Given the description of an element on the screen output the (x, y) to click on. 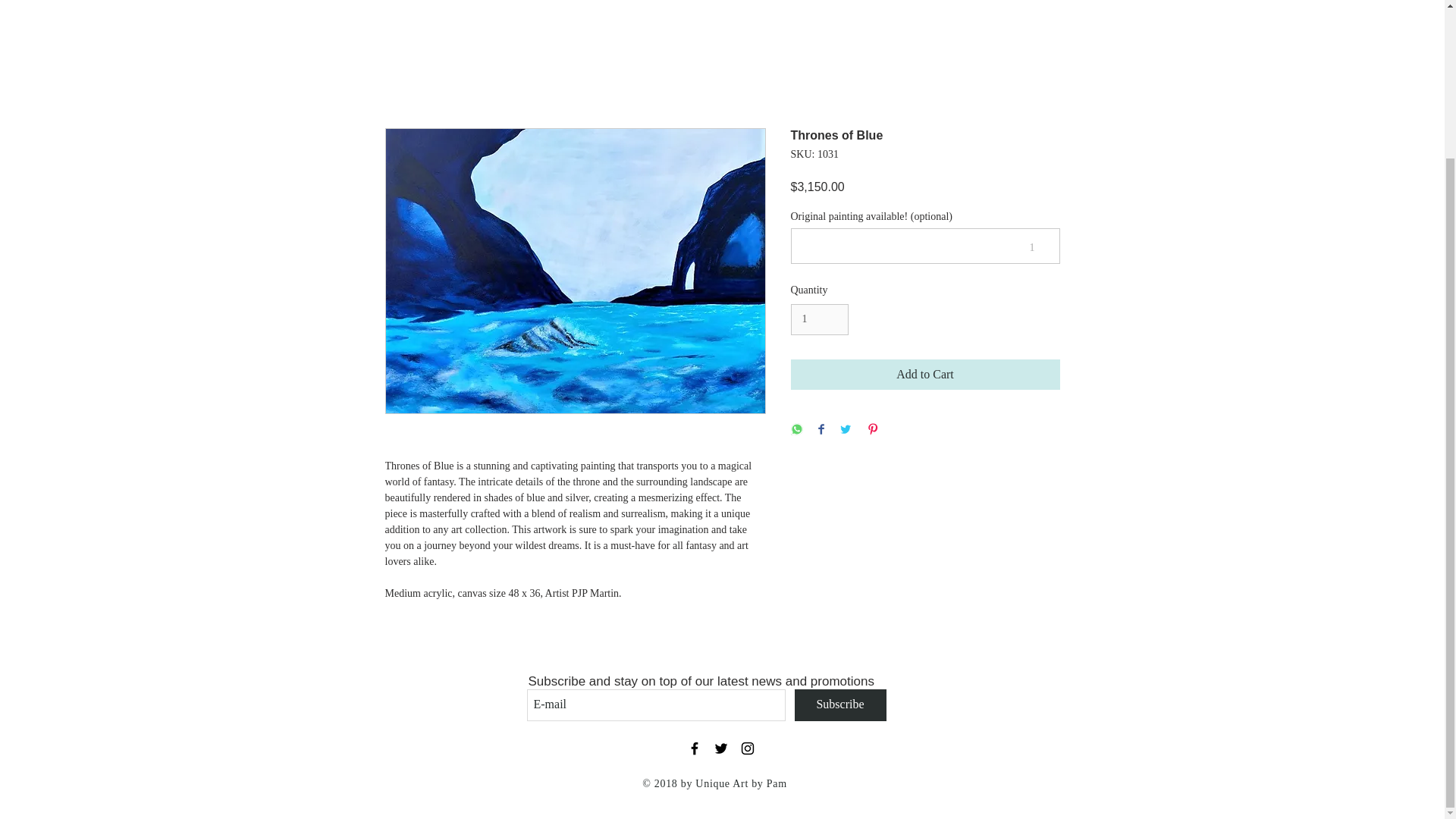
Add to Cart (924, 374)
1 (818, 318)
Subscribe (840, 705)
